Given the description of an element on the screen output the (x, y) to click on. 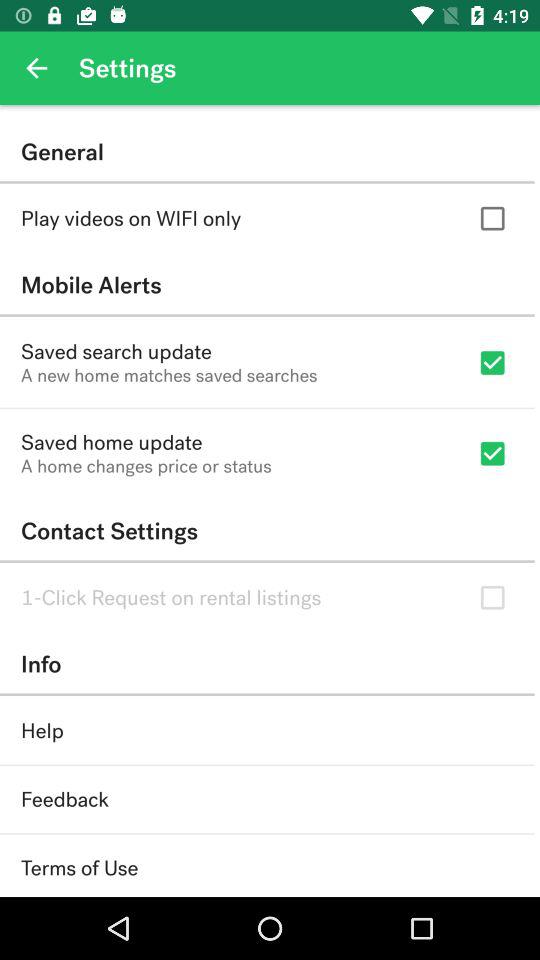
tap the help item (42, 730)
